Given the description of an element on the screen output the (x, y) to click on. 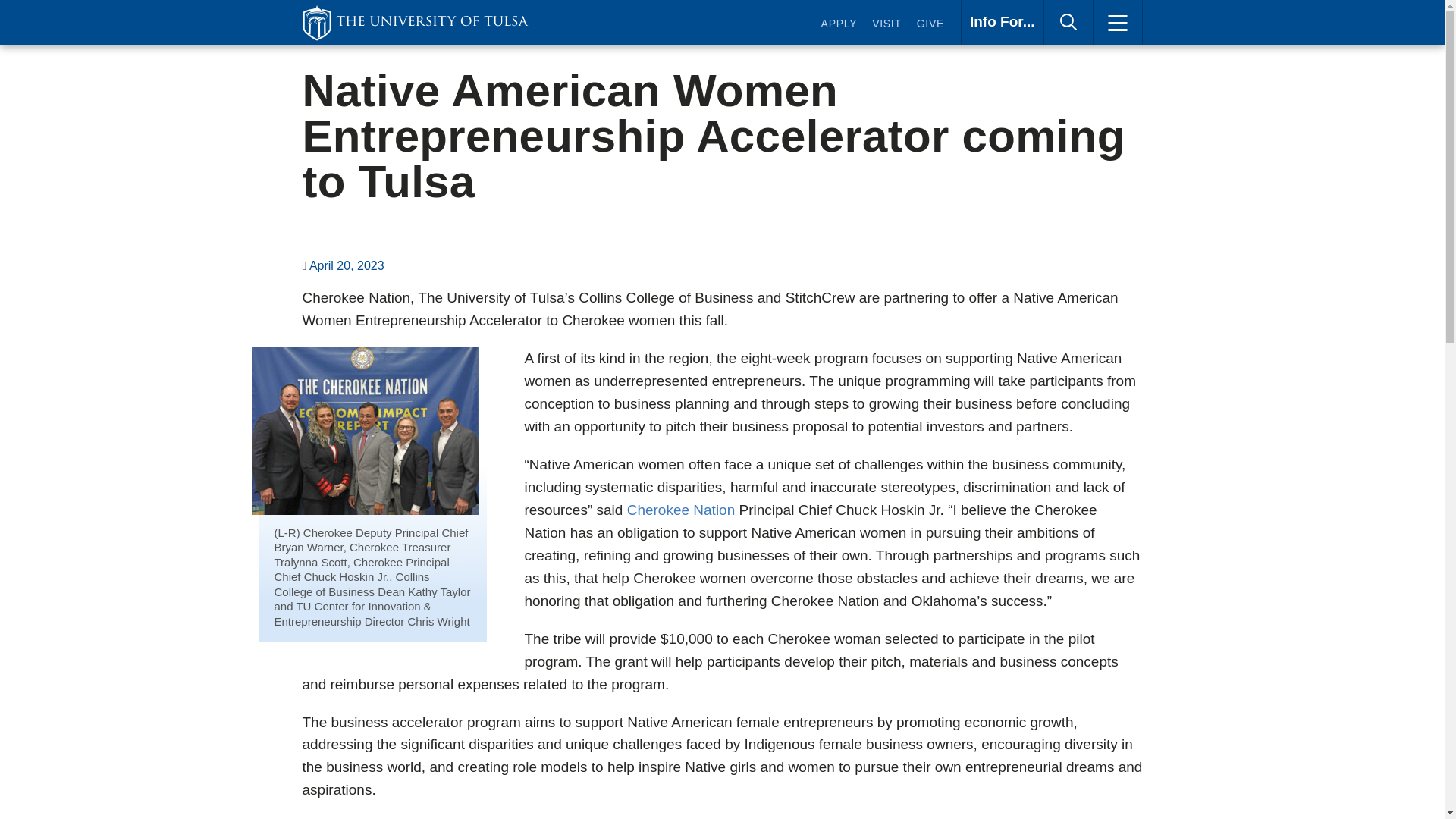
APPLY (839, 25)
Link to TU homepage (414, 23)
Skip to main content (644, 3)
GIVE (1001, 22)
VISIT (930, 25)
